Given the description of an element on the screen output the (x, y) to click on. 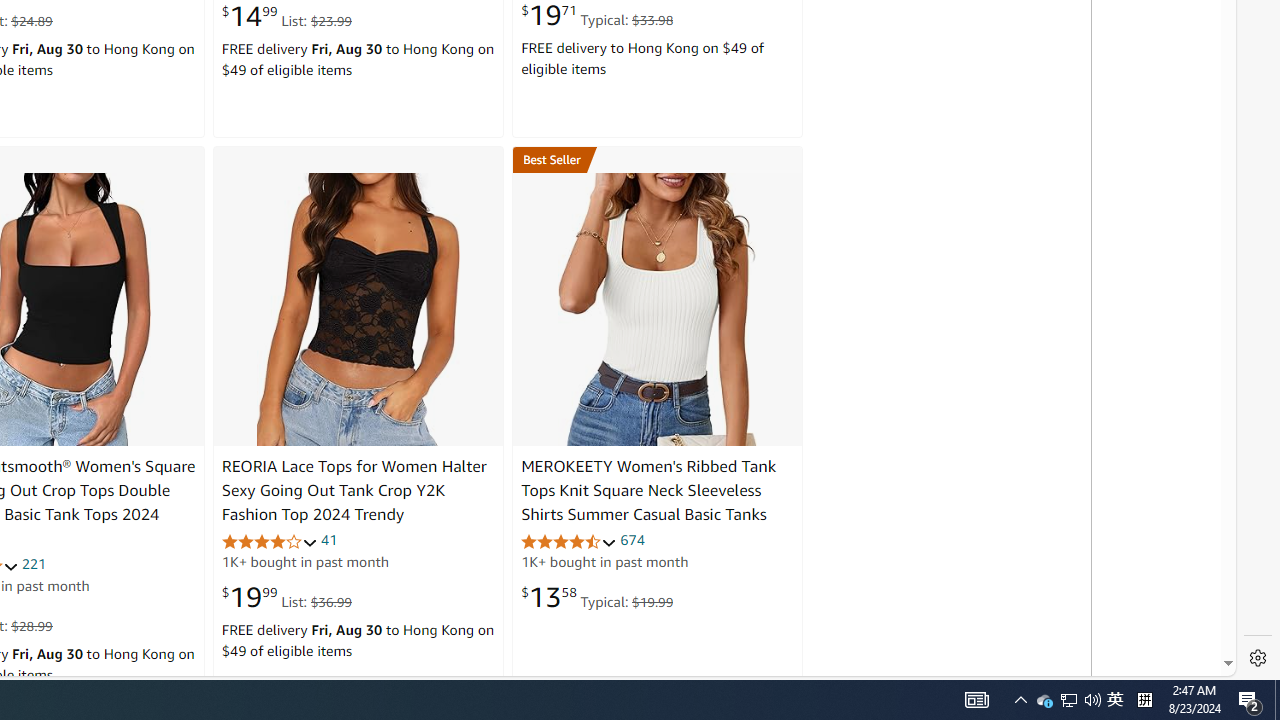
41 (328, 539)
$19.99 List: $36.99 (286, 596)
4.0 out of 5 stars (269, 541)
221 (33, 563)
674 (632, 539)
$13.58 Typical: $19.99 (597, 596)
4.5 out of 5 stars (569, 541)
